Given the description of an element on the screen output the (x, y) to click on. 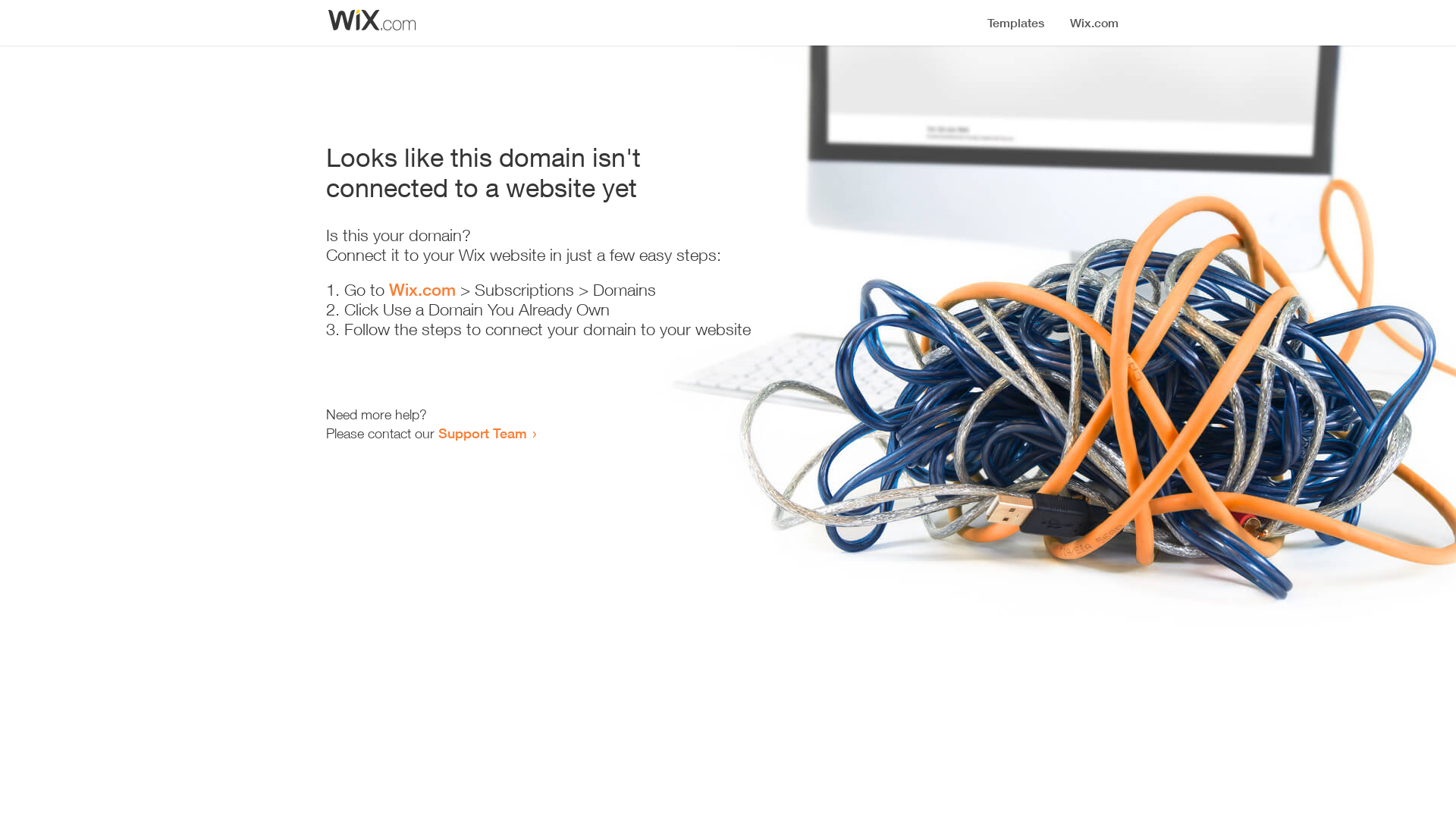
Support Team Element type: text (482, 432)
Wix.com Element type: text (422, 289)
